Given the description of an element on the screen output the (x, y) to click on. 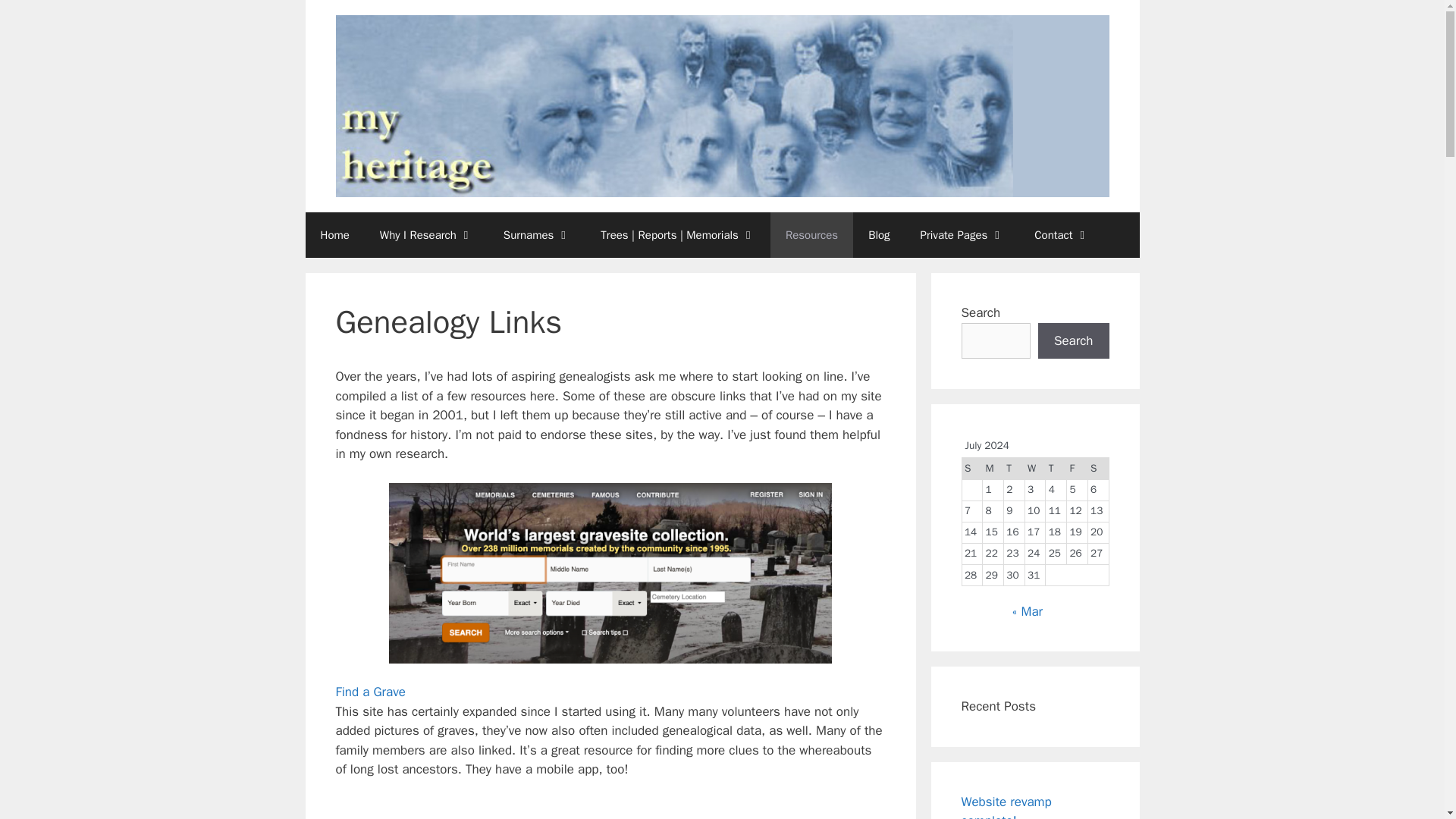
Surnames (536, 234)
Saturday (1097, 468)
Monday (993, 468)
Friday (1077, 468)
Why I Research (426, 234)
Tuesday (1014, 468)
Wednesday (1035, 468)
Thursday (1056, 468)
Sunday (971, 468)
Home (334, 234)
